Given the description of an element on the screen output the (x, y) to click on. 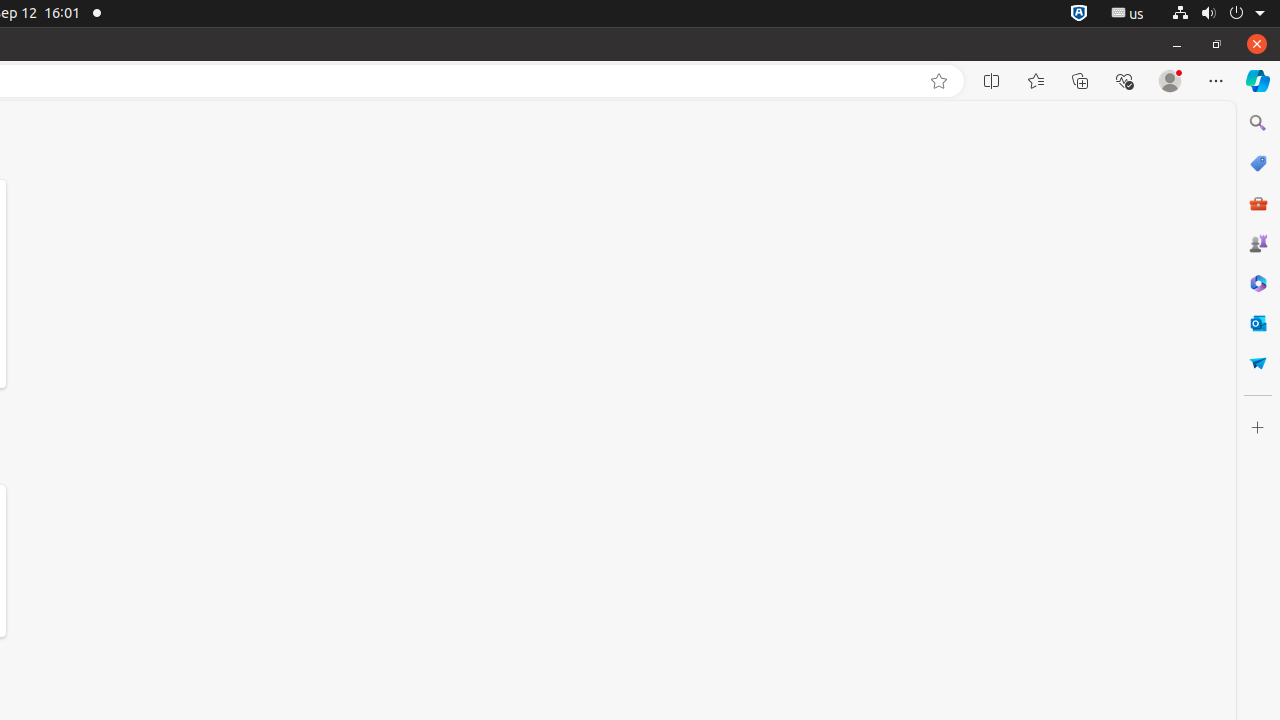
:1.72/StatusNotifierItem Element type: menu (1079, 13)
Browser essentials Element type: push-button (1124, 81)
Microsoft 365 Element type: push-button (1258, 283)
Games Element type: push-button (1258, 243)
:1.21/StatusNotifierItem Element type: menu (1127, 13)
